Given the description of an element on the screen output the (x, y) to click on. 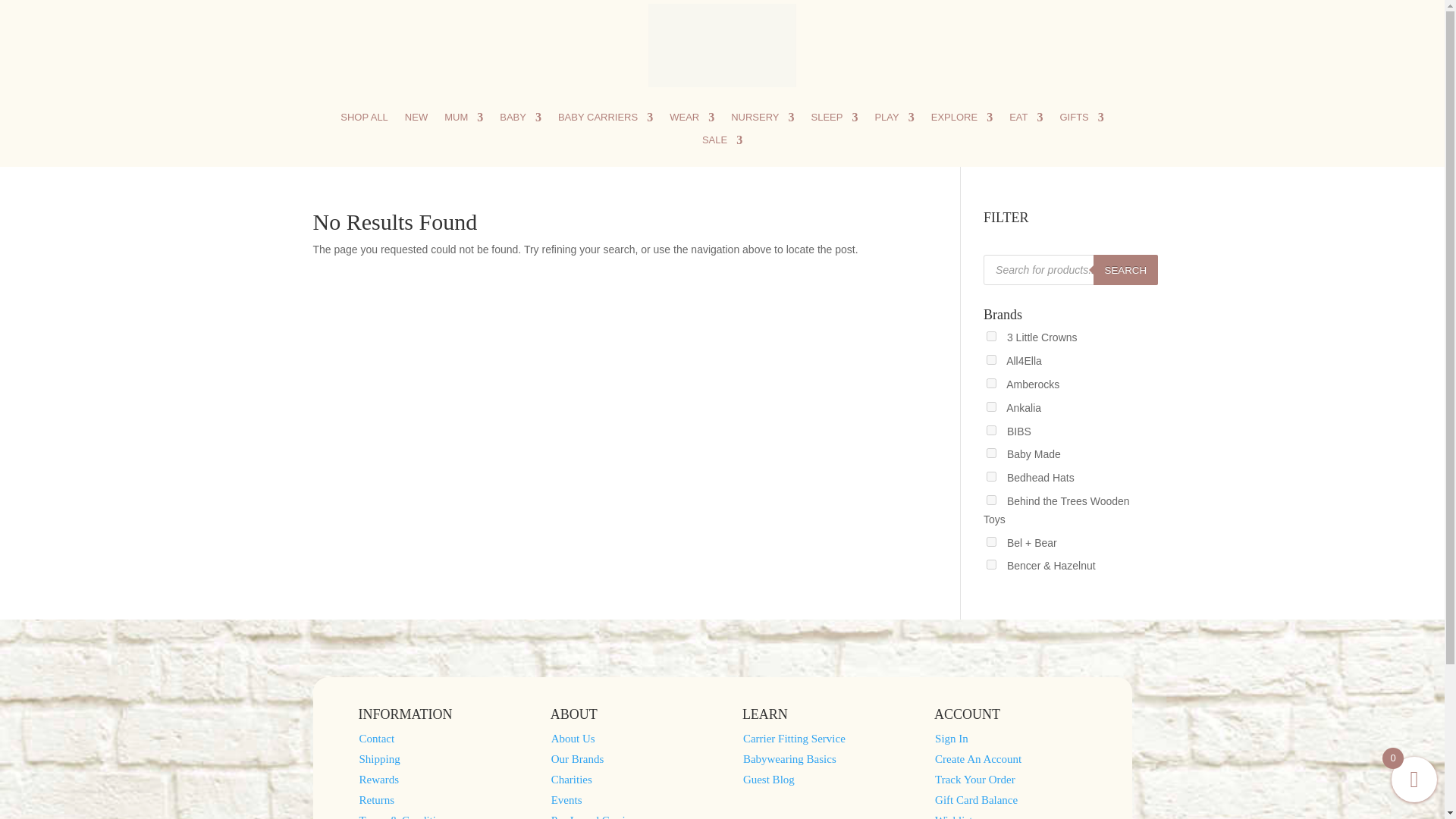
Site Logo (720, 45)
baby-made (991, 452)
BABY CARRIERS (604, 120)
MUM (463, 120)
NURSERY (761, 120)
bedhead-hats (991, 476)
Earthie Koala Blog (975, 44)
ankalia (991, 406)
3-little-crowns (991, 336)
Earthie Koala Blog (1005, 44)
